Given the description of an element on the screen output the (x, y) to click on. 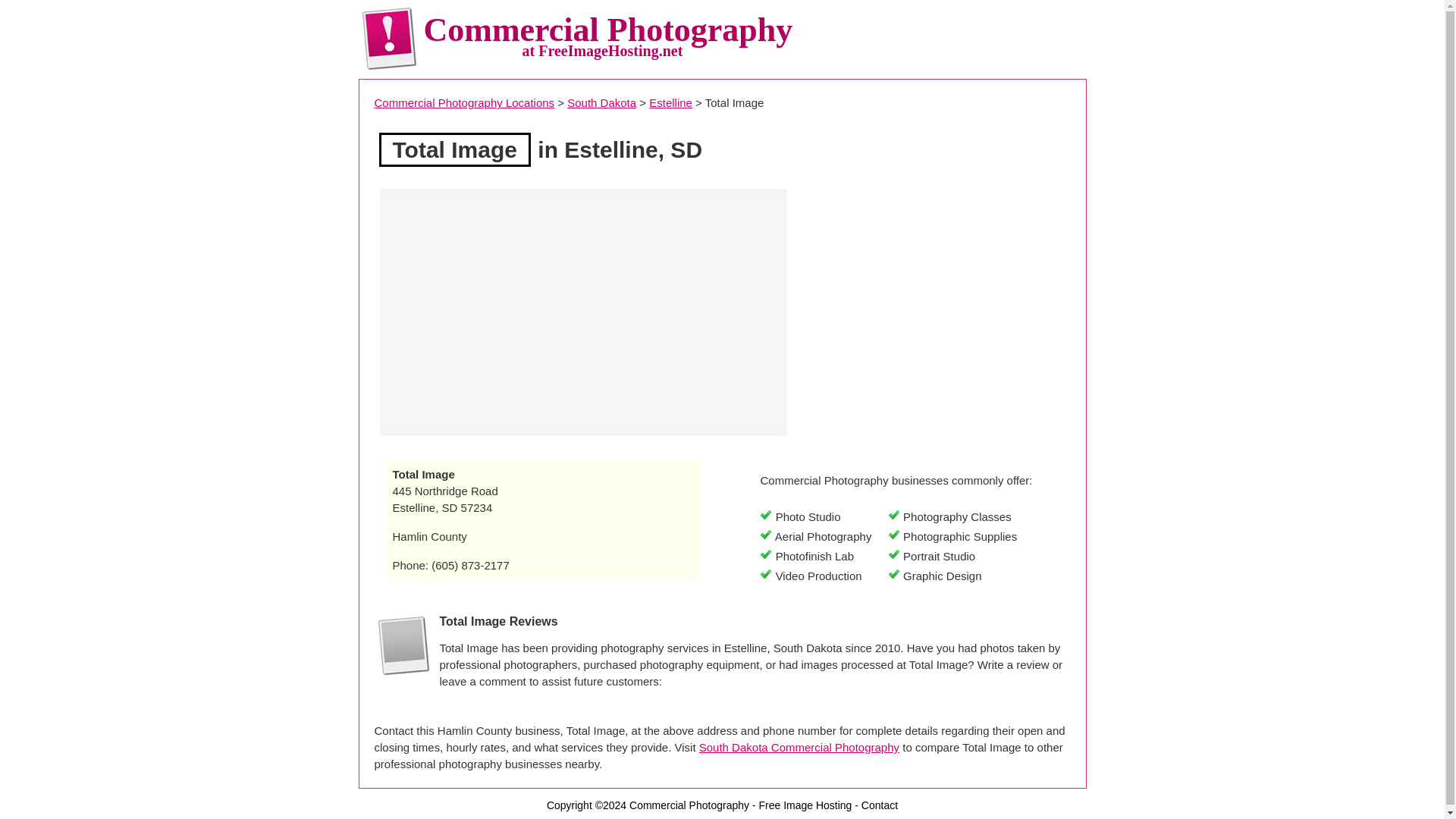
Estelline Commercial Photography (671, 102)
South Dakota (601, 102)
Commercial Photography Locations (464, 102)
South Dakota Commercial Photography (798, 747)
South Dakota Commercial Photography (601, 102)
Estelline (671, 102)
Commercial Photography Locations (464, 102)
